Given the description of an element on the screen output the (x, y) to click on. 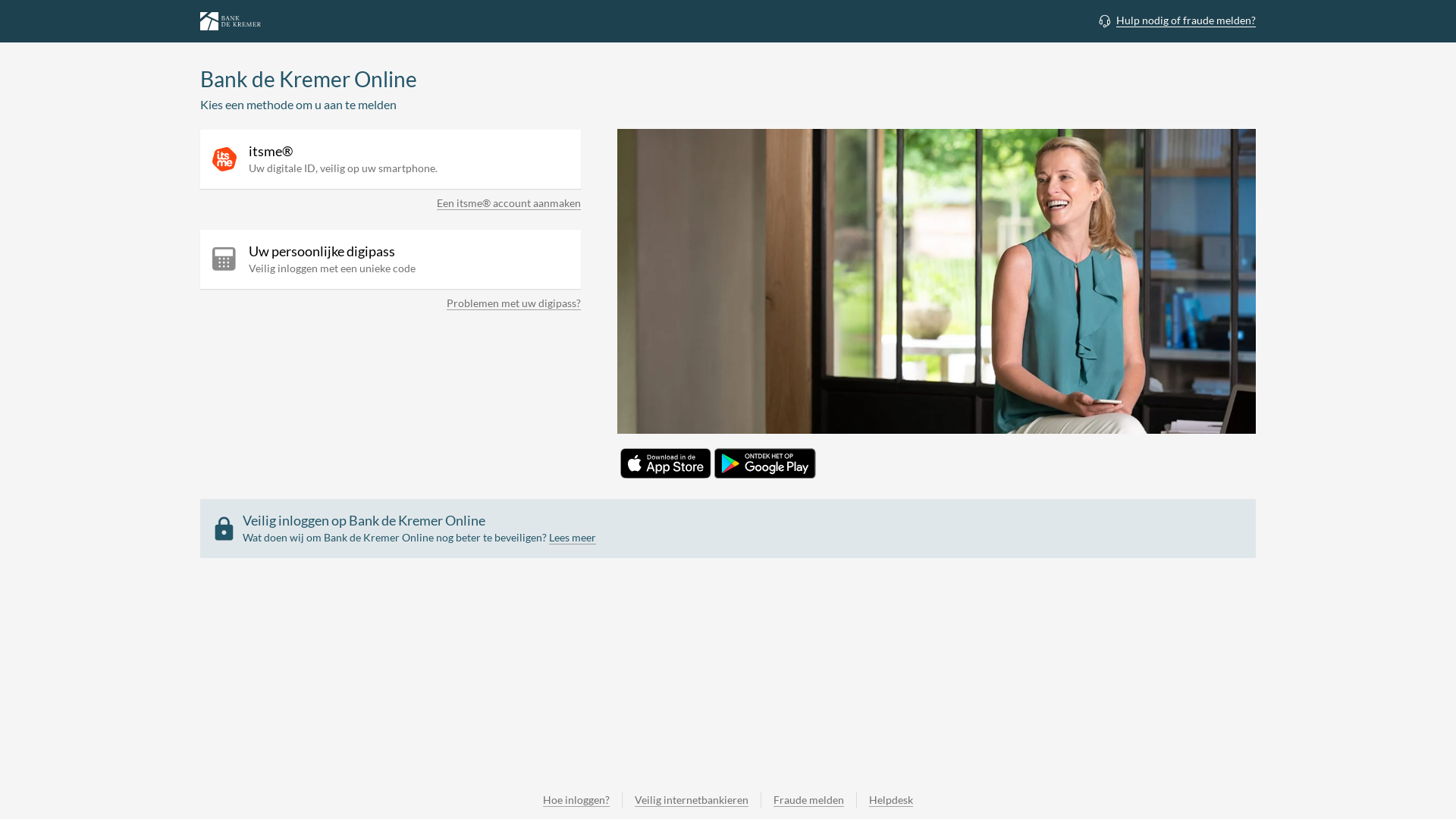
Helpdesk Element type: text (890, 799)
Hoe inloggen? Element type: text (575, 799)
Veilig internetbankieren Element type: text (690, 799)
Problemen met uw digipass? Element type: text (513, 305)
Fraude melden Element type: text (808, 799)
Hulp nodig of fraude melden? Element type: text (1175, 20)
Lees meer Element type: text (572, 537)
